Given the description of an element on the screen output the (x, y) to click on. 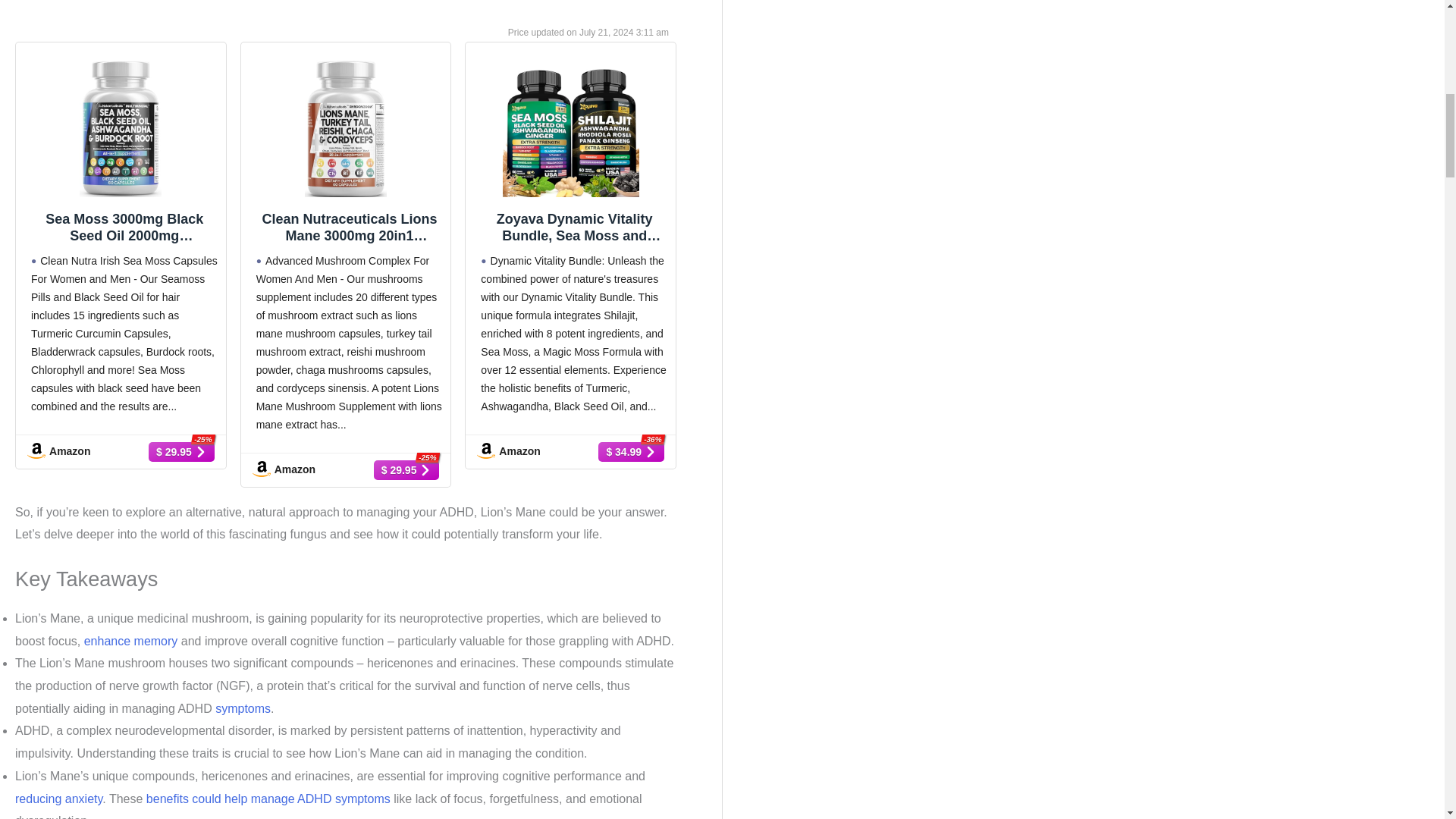
symptoms (242, 707)
